Given the description of an element on the screen output the (x, y) to click on. 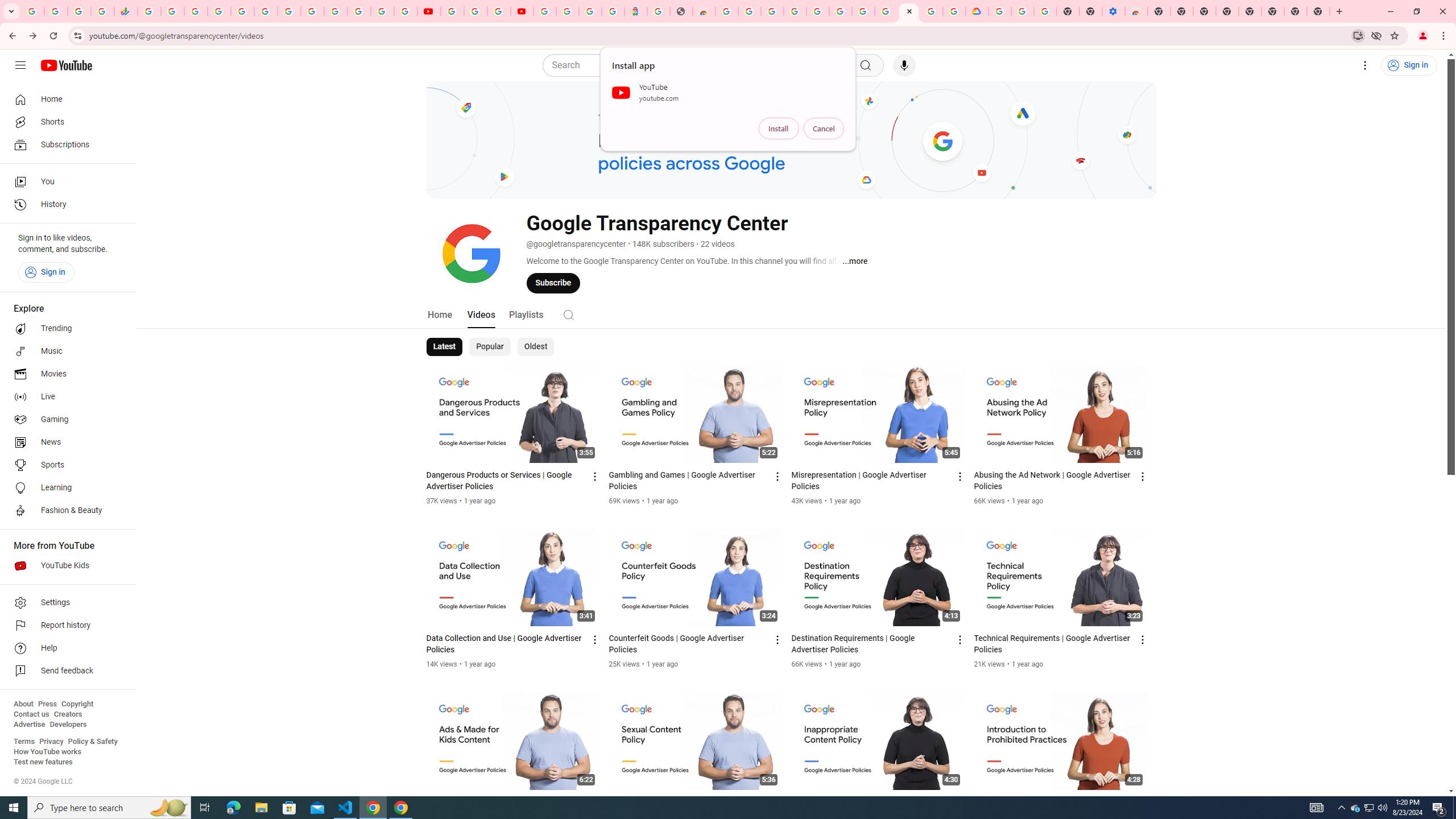
Send feedback (64, 671)
Report history (64, 625)
Privacy Checkup (405, 11)
How YouTube works (47, 751)
Chrome Web Store - Accessibility extensions (1136, 11)
Google Account Help (1022, 11)
New Tab (1318, 11)
Search with your voice (903, 65)
